Given the description of an element on the screen output the (x, y) to click on. 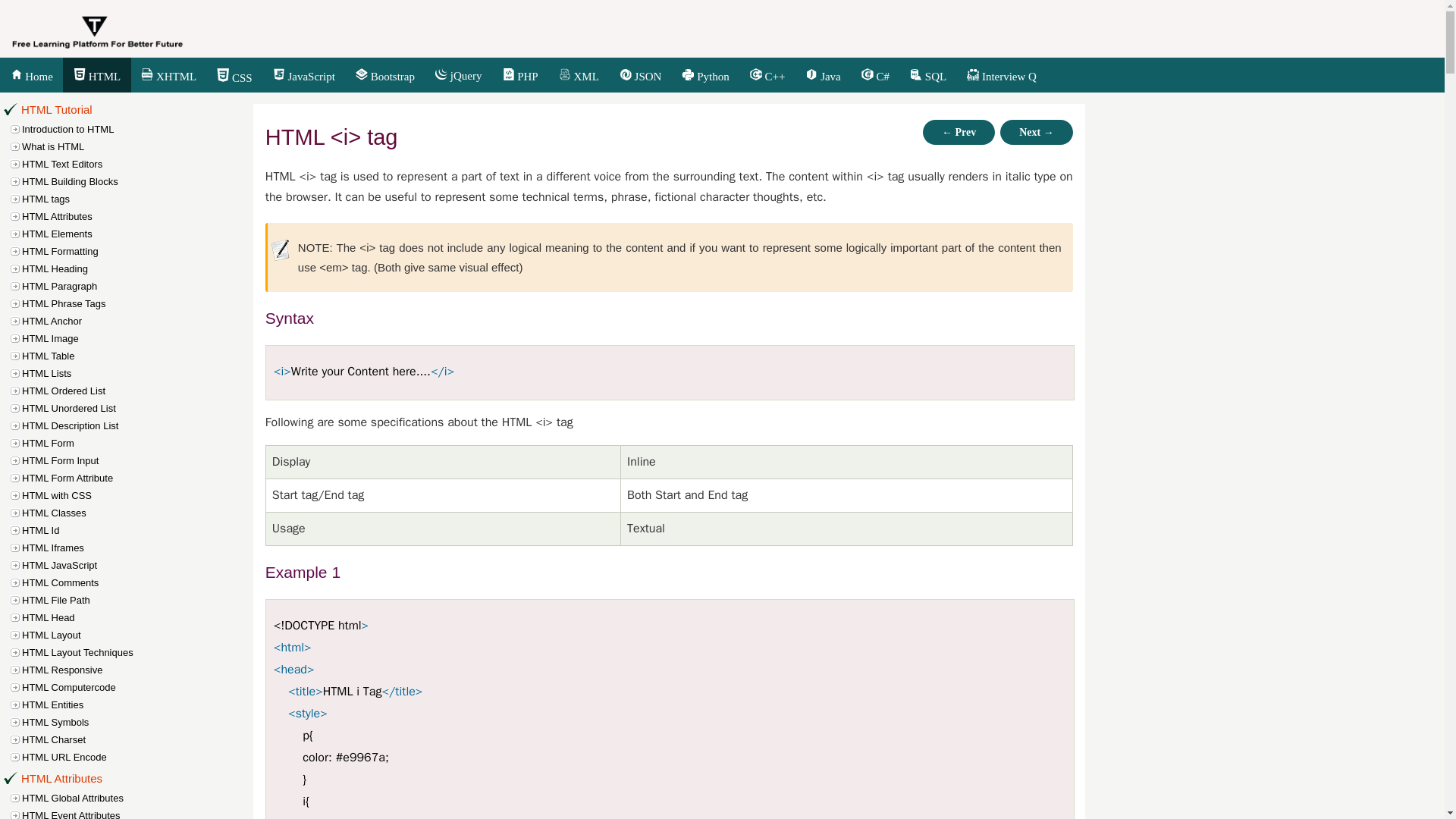
XHTML (168, 76)
Introduction to HTML (138, 129)
HTML Phrase Tags (138, 303)
HTML Lists (138, 373)
Bootstrap (385, 76)
CSS (234, 76)
jQuery (458, 75)
HTML Building Blocks (138, 181)
HTML Paragraph (138, 286)
JSON (639, 76)
